Given the description of an element on the screen output the (x, y) to click on. 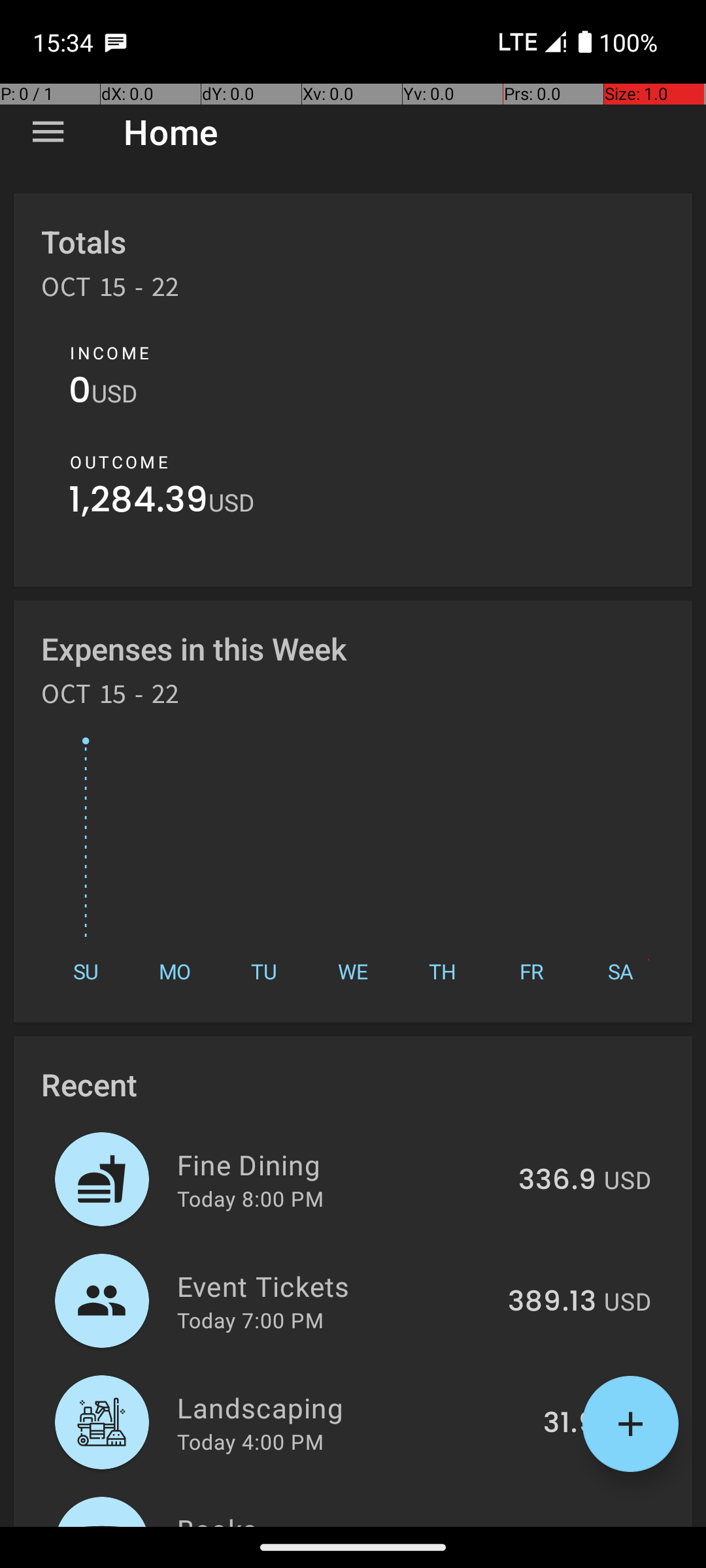
1,284.39 Element type: android.widget.TextView (138, 502)
Fine Dining Element type: android.widget.TextView (340, 1164)
Today 8:00 PM Element type: android.widget.TextView (250, 1198)
336.9 Element type: android.widget.TextView (556, 1180)
Event Tickets Element type: android.widget.TextView (334, 1285)
389.13 Element type: android.widget.TextView (551, 1301)
Landscaping Element type: android.widget.TextView (352, 1407)
Today 4:00 PM Element type: android.widget.TextView (250, 1441)
31.9 Element type: android.widget.TextView (569, 1423)
Books Element type: android.widget.TextView (338, 1518)
147.15 Element type: android.widget.TextView (555, 1524)
